Given the description of an element on the screen output the (x, y) to click on. 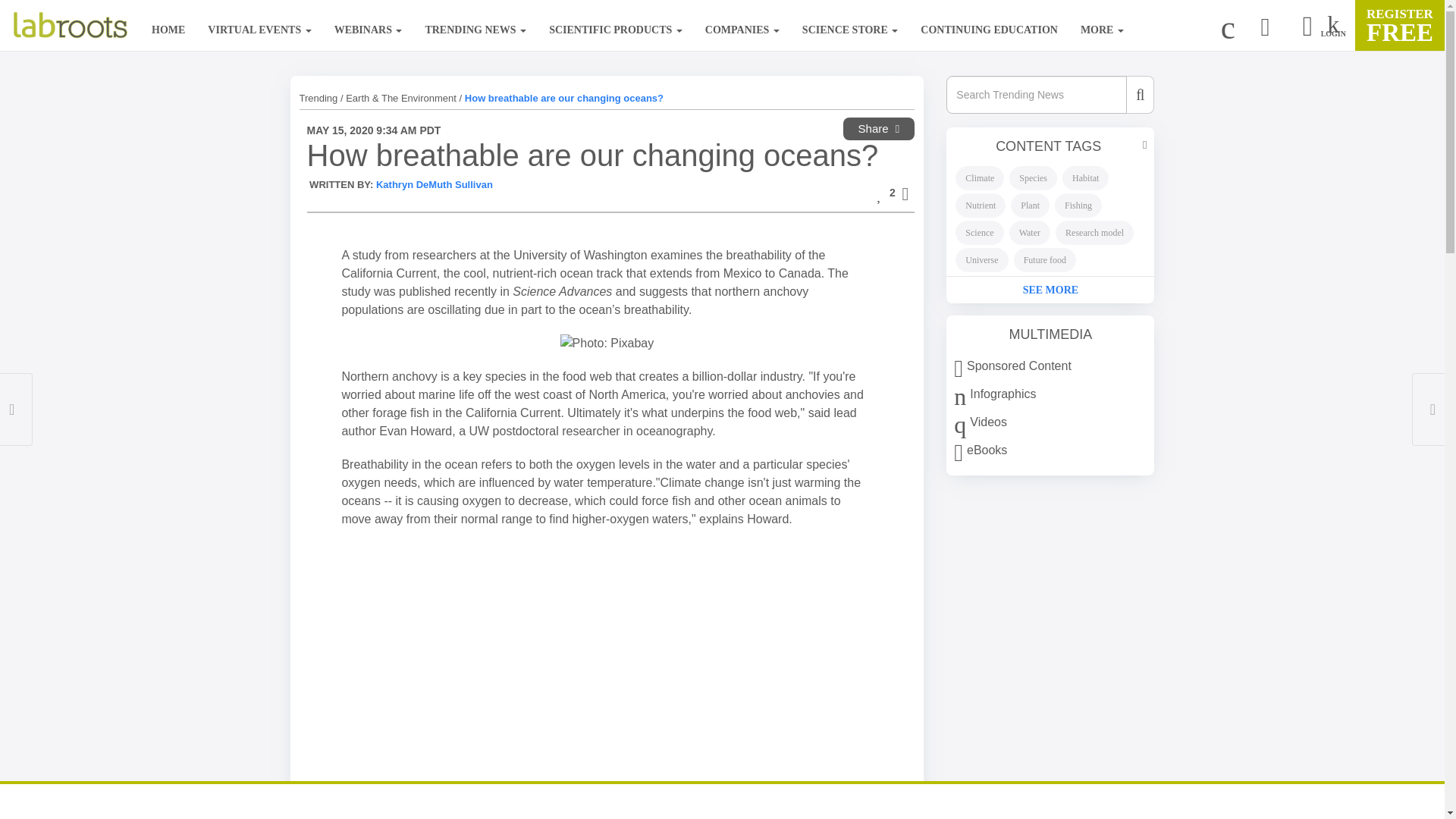
WEBINARS (368, 24)
VIRTUAL EVENTS (258, 24)
HOME (167, 24)
